Given the description of an element on the screen output the (x, y) to click on. 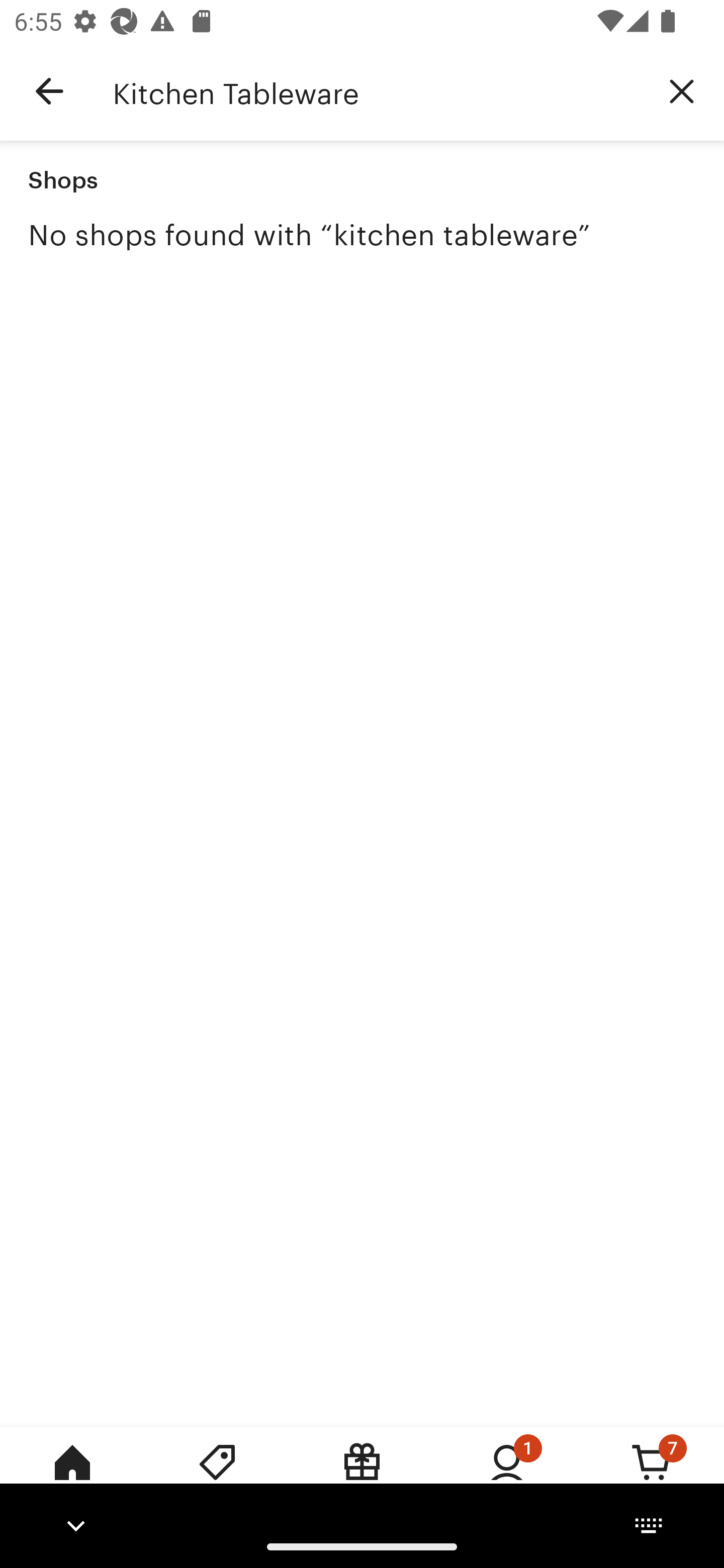
Navigate up (49, 91)
Clear query (681, 90)
Kitchen Tableware (375, 91)
Deals (216, 1475)
Gift Mode (361, 1475)
You, 1 new notification (506, 1475)
Cart, 7 new notifications (651, 1475)
